Given the description of an element on the screen output the (x, y) to click on. 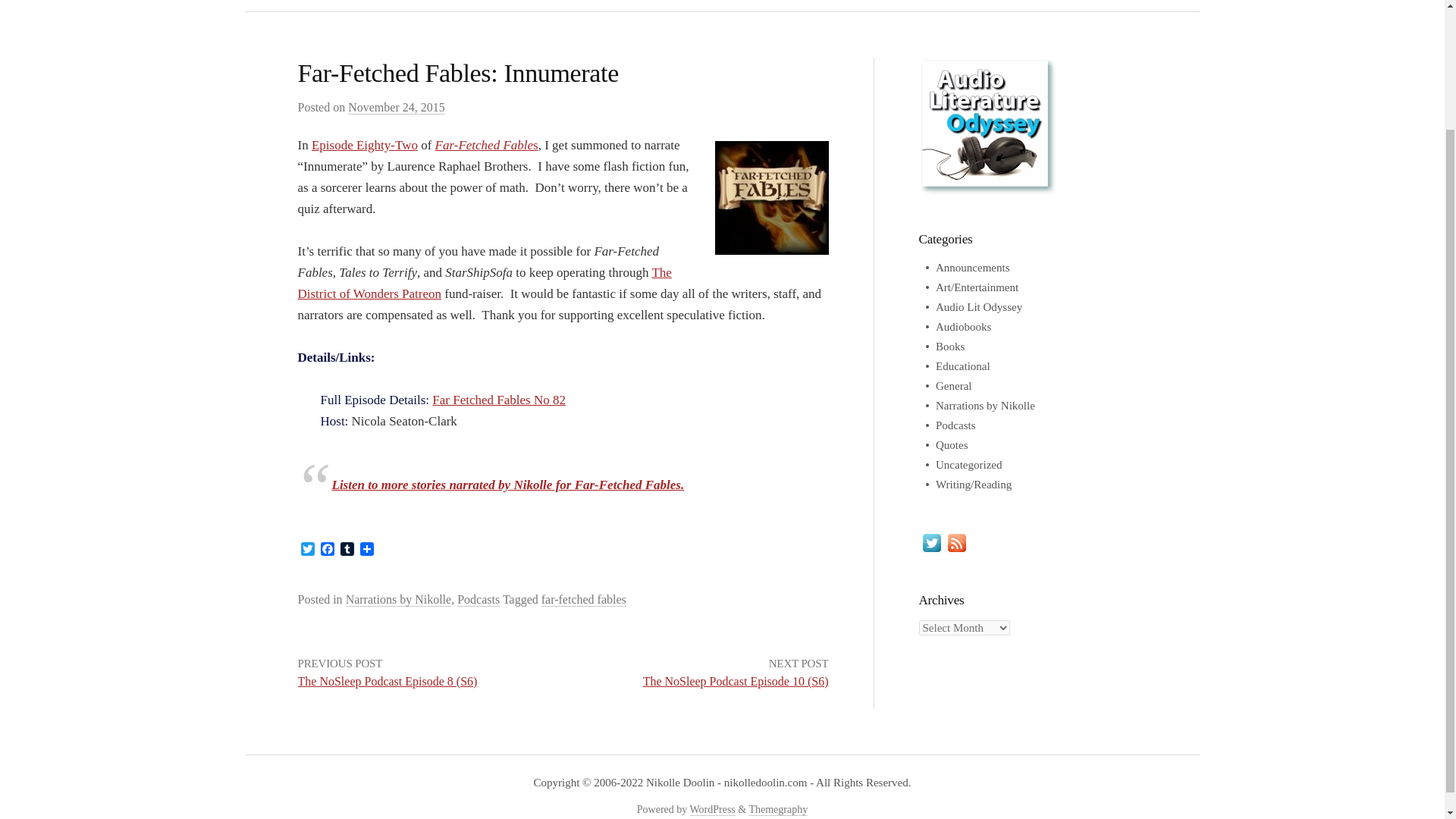
Audiobooks (963, 326)
Writing (683, 5)
far-fetched fables (583, 599)
Uncategorized (968, 464)
Narrations by Nikolle (398, 599)
Quotes (952, 444)
November 24, 2015 (396, 107)
Facebook (326, 550)
Check Our Feed (955, 541)
Contact (818, 5)
Podcasts (478, 599)
Twitter (307, 550)
Twitter (307, 550)
Tumblr (346, 550)
